Given the description of an element on the screen output the (x, y) to click on. 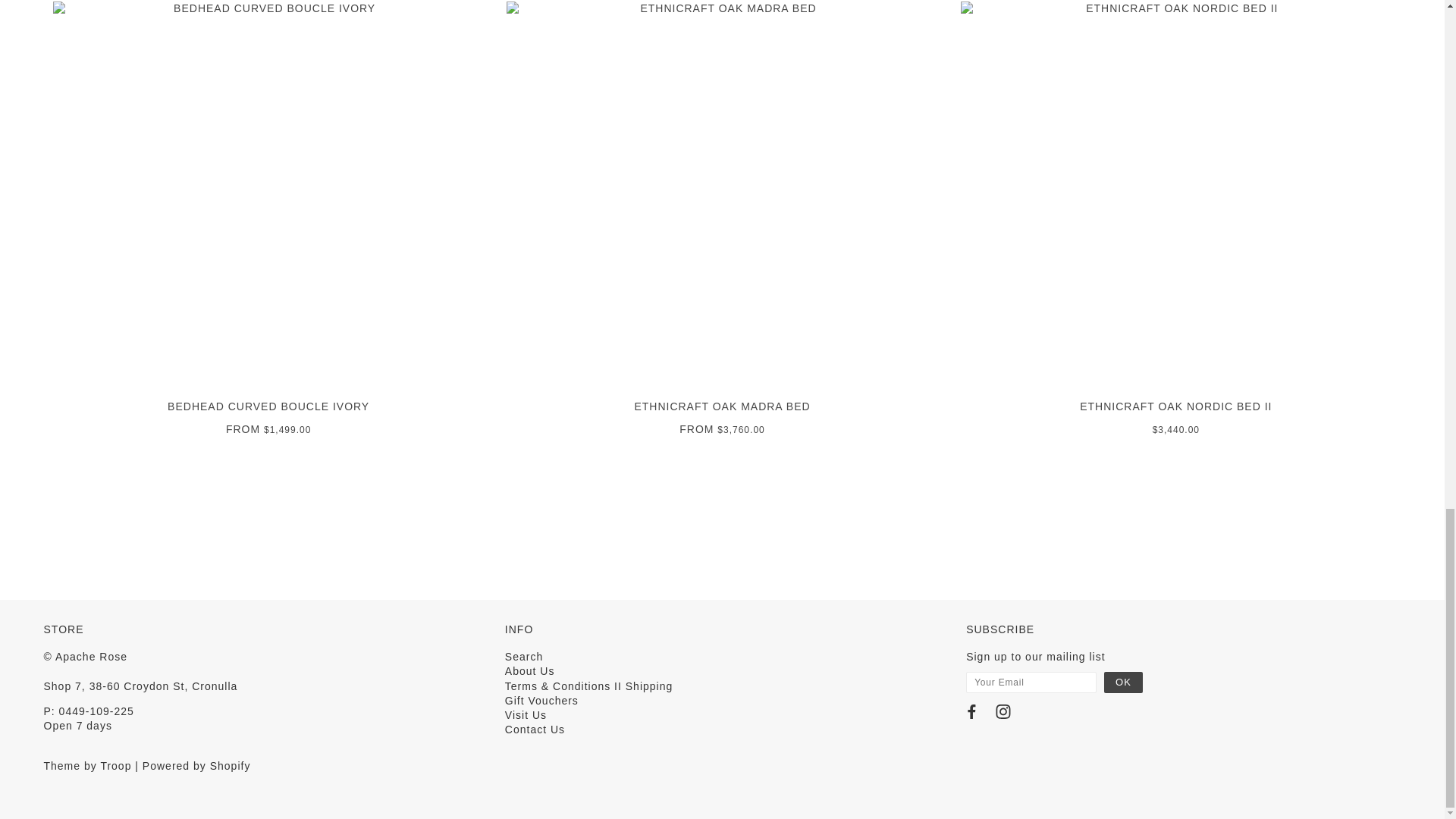
Gift Vouchers (541, 700)
Visit Us (526, 715)
Contact Us (534, 729)
OK (1122, 681)
Search (524, 656)
About Us (529, 671)
